Given the description of an element on the screen output the (x, y) to click on. 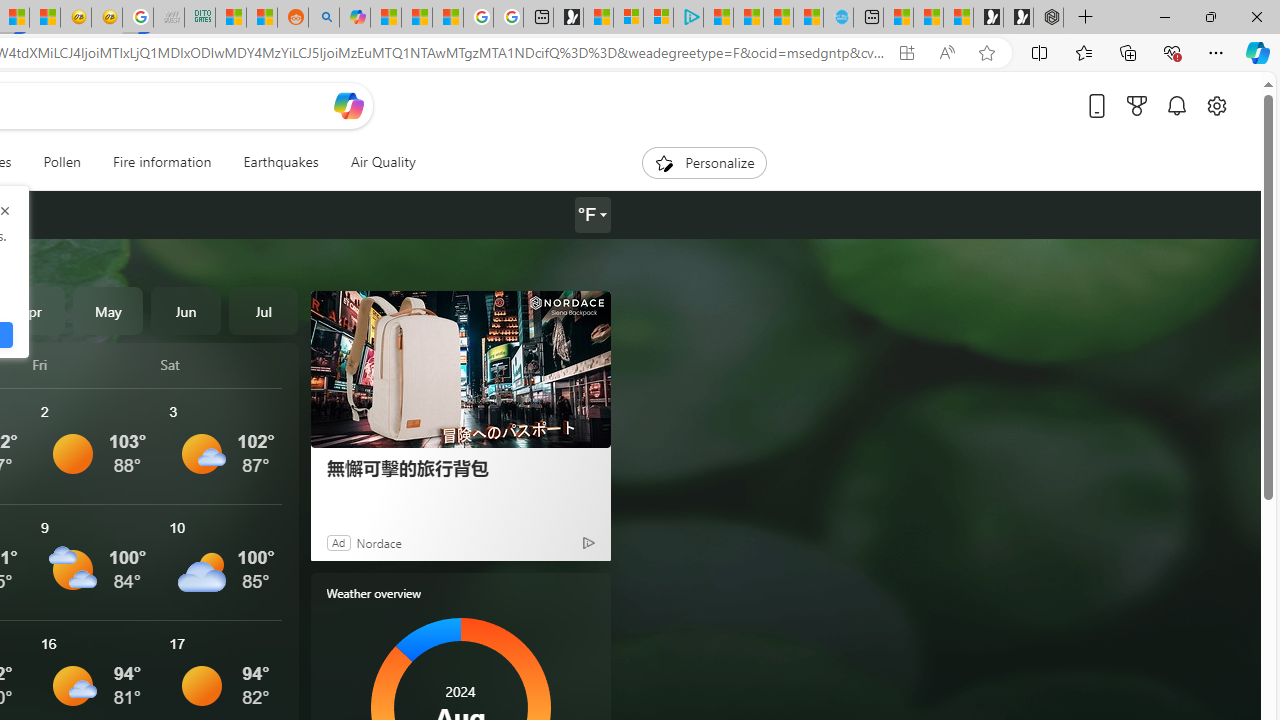
Fire information (162, 162)
Jun (186, 310)
